Given the description of an element on the screen output the (x, y) to click on. 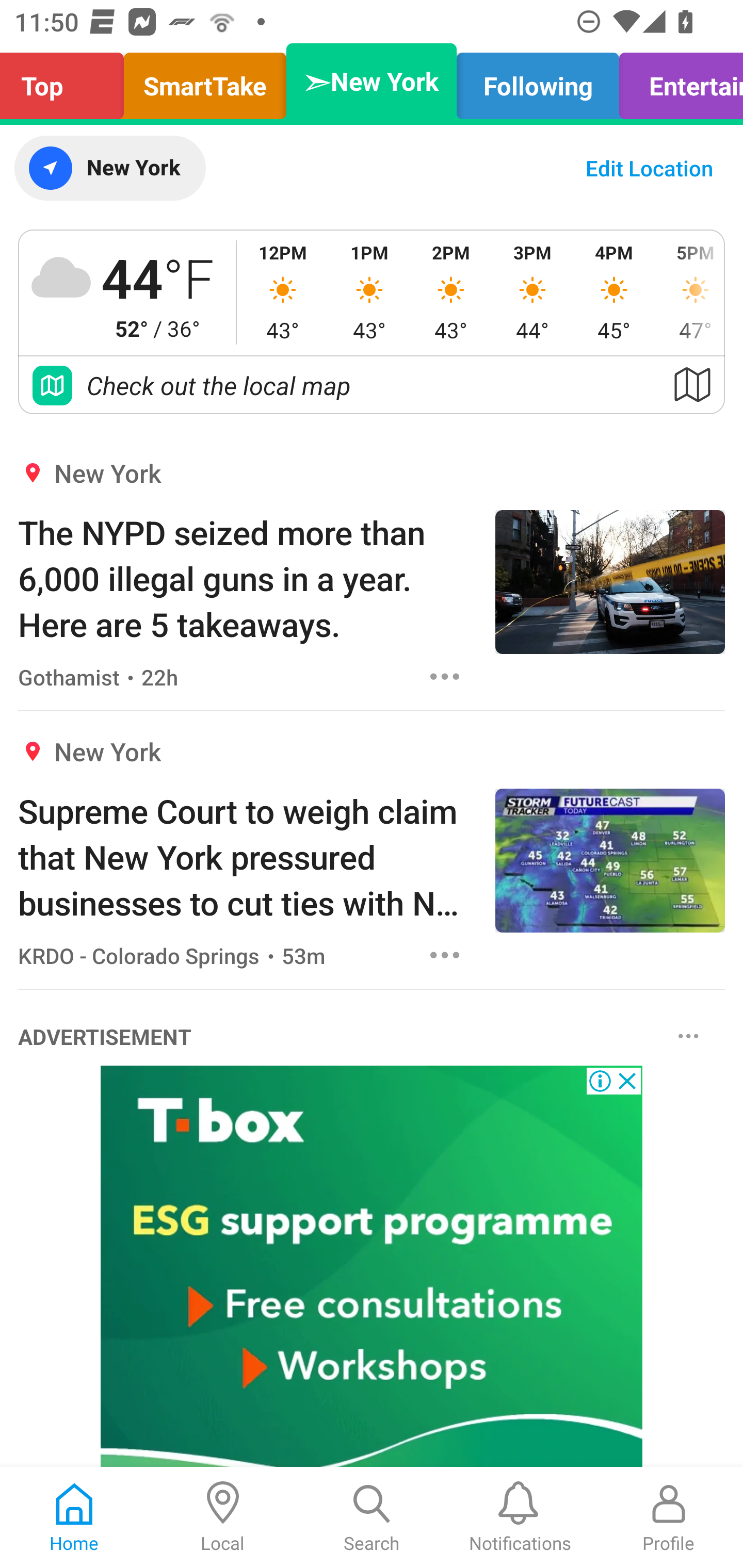
Top (67, 81)
SmartTake (204, 81)
➣New York (371, 81)
Following (537, 81)
New York (109, 168)
Edit Location (648, 168)
12PM 43° (282, 291)
1PM 43° (369, 291)
2PM 43° (450, 291)
3PM 44° (532, 291)
4PM 45° (613, 291)
5PM 47° (689, 291)
Check out the local map (371, 384)
Options (444, 676)
Options (444, 954)
Options (688, 1035)
sustainability%3FDCSext (371, 1266)
Local (222, 1517)
Search (371, 1517)
Notifications (519, 1517)
Profile (668, 1517)
